Given the description of an element on the screen output the (x, y) to click on. 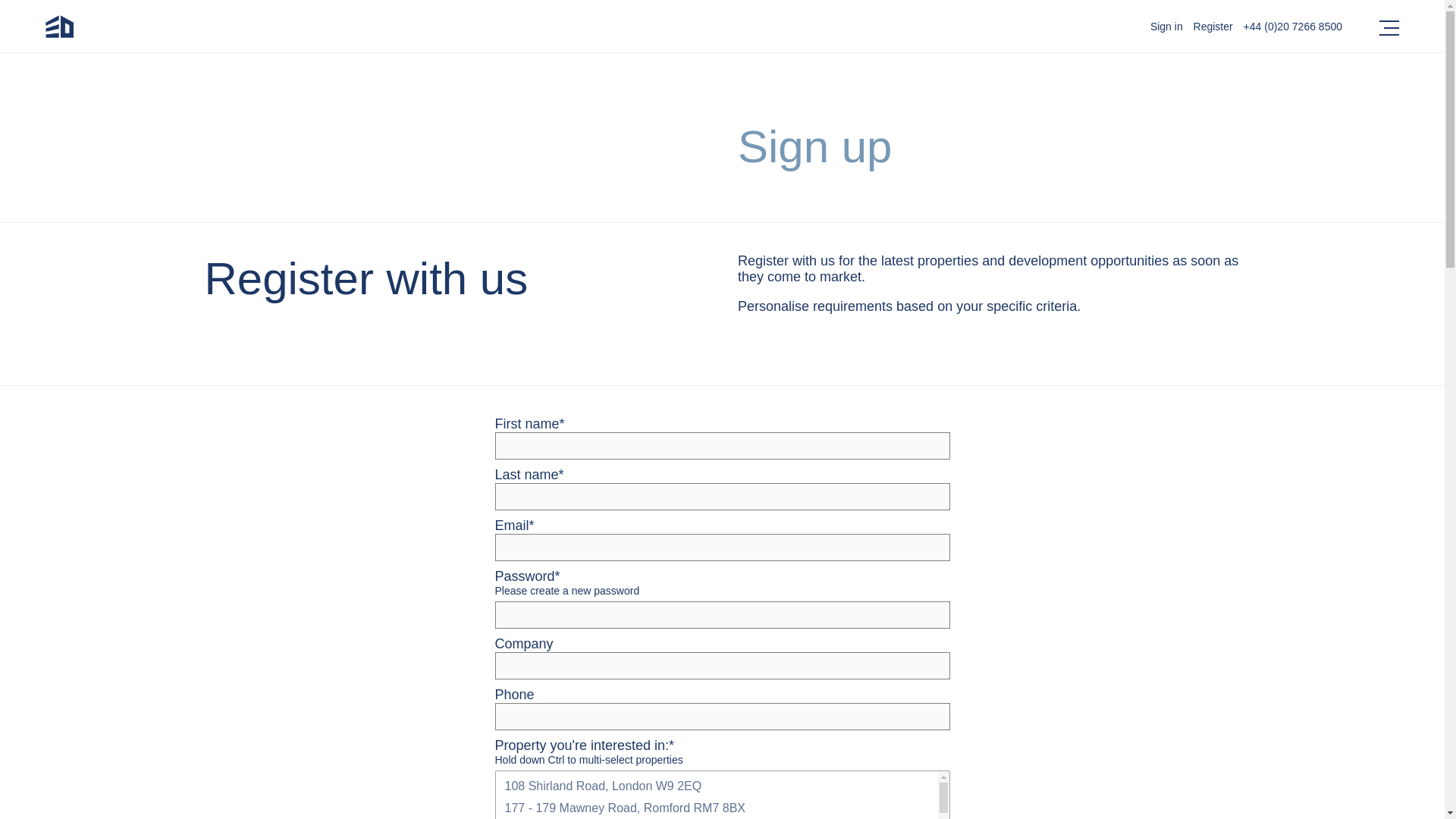
Register (1213, 26)
